Given the description of an element on the screen output the (x, y) to click on. 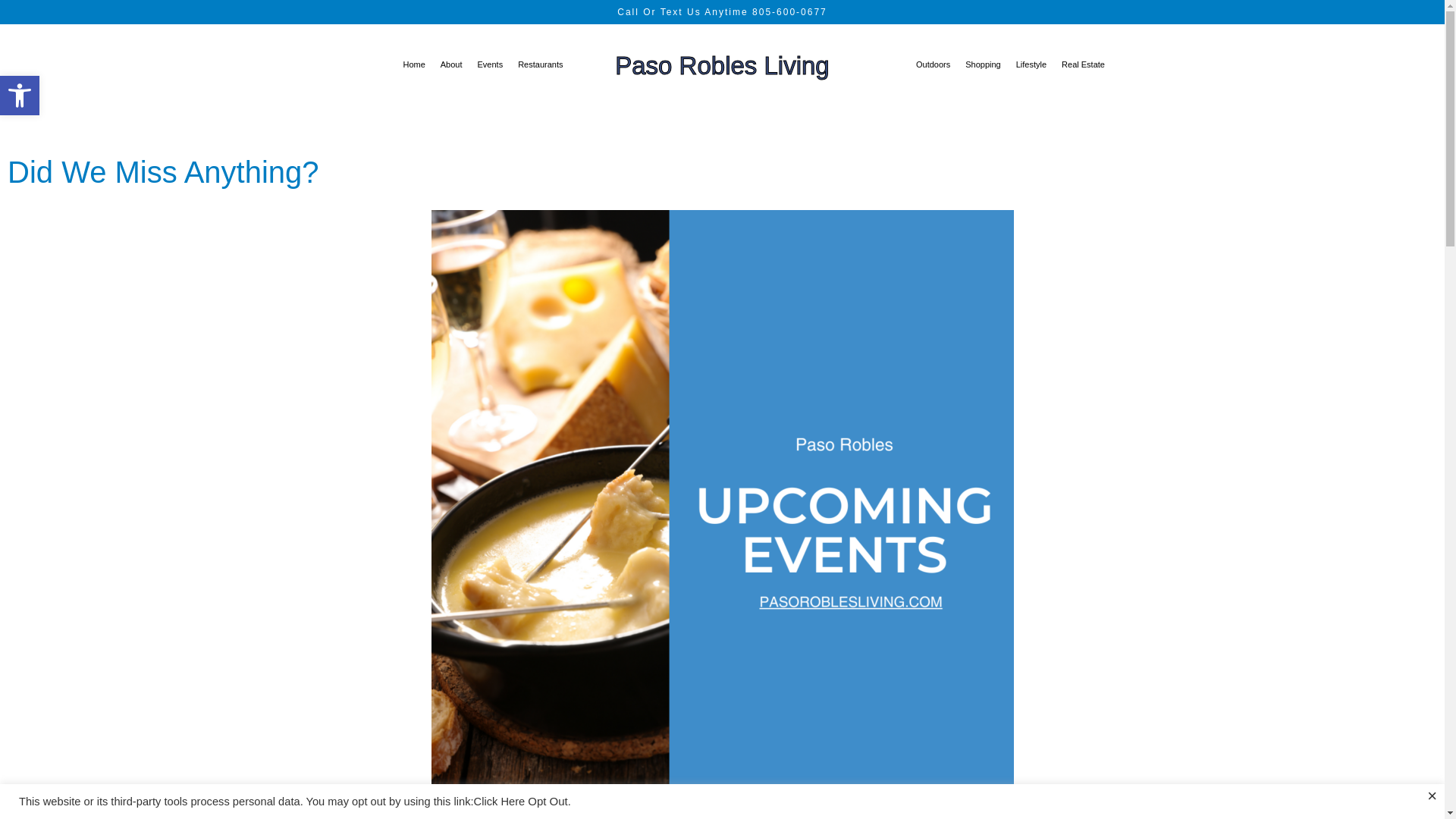
Paso Robles Living (19, 95)
Events (721, 65)
Accessibility Tools (490, 63)
Restaurants (19, 95)
About (540, 63)
Accessibility Tools (451, 63)
Call Or Text Us Anytime 805-600-0677 (19, 95)
Home (722, 11)
